Given the description of an element on the screen output the (x, y) to click on. 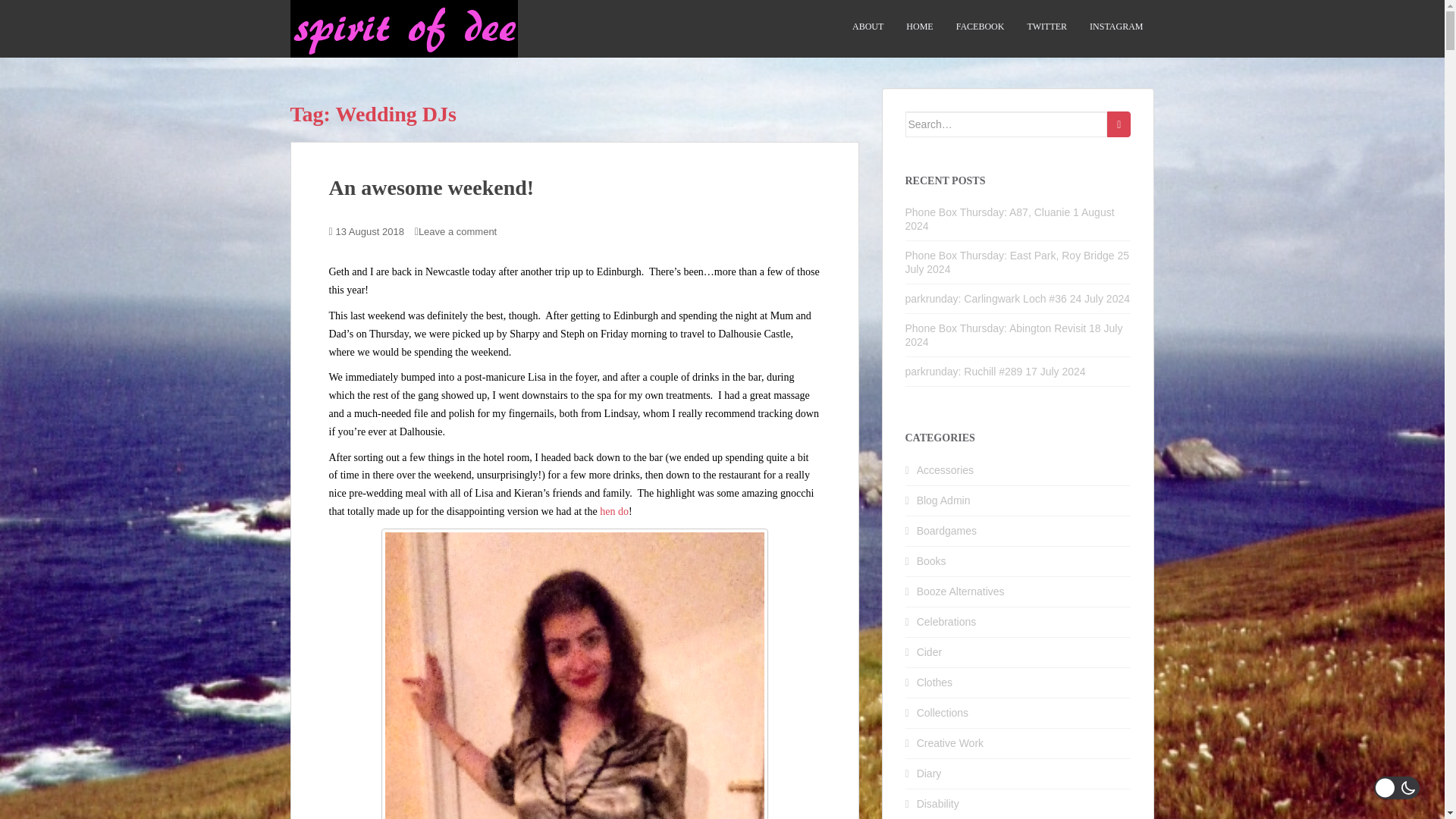
FACEBOOK (980, 26)
13 August 2018 (370, 231)
TWITTER (1046, 26)
hen do (613, 511)
An awesome weekend! (431, 187)
INSTAGRAM (1115, 26)
ABOUT (867, 26)
Leave a comment (457, 231)
